Given the description of an element on the screen output the (x, y) to click on. 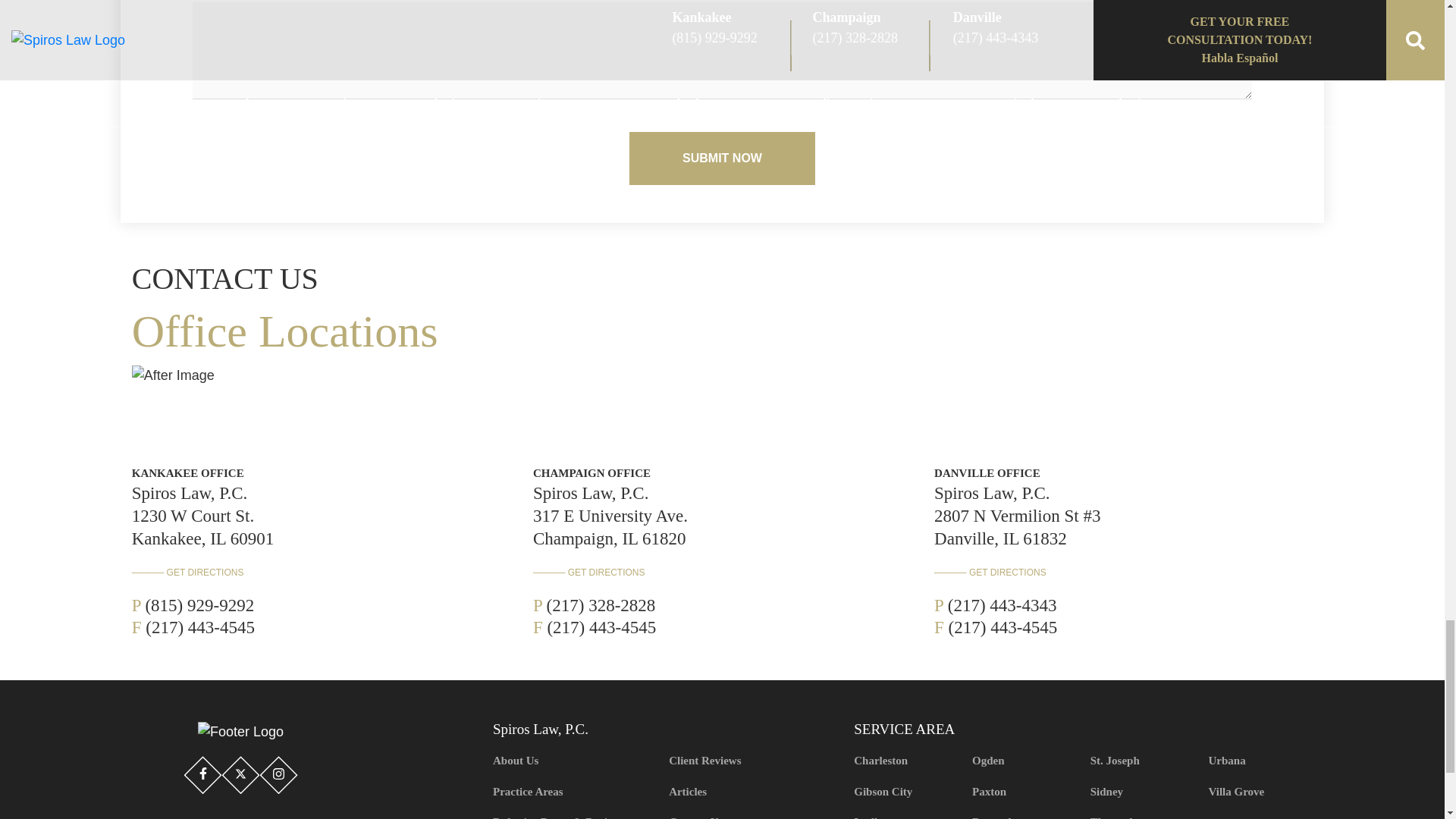
Practice Areas (574, 791)
Submit Now (721, 158)
About Us (574, 760)
